Given the description of an element on the screen output the (x, y) to click on. 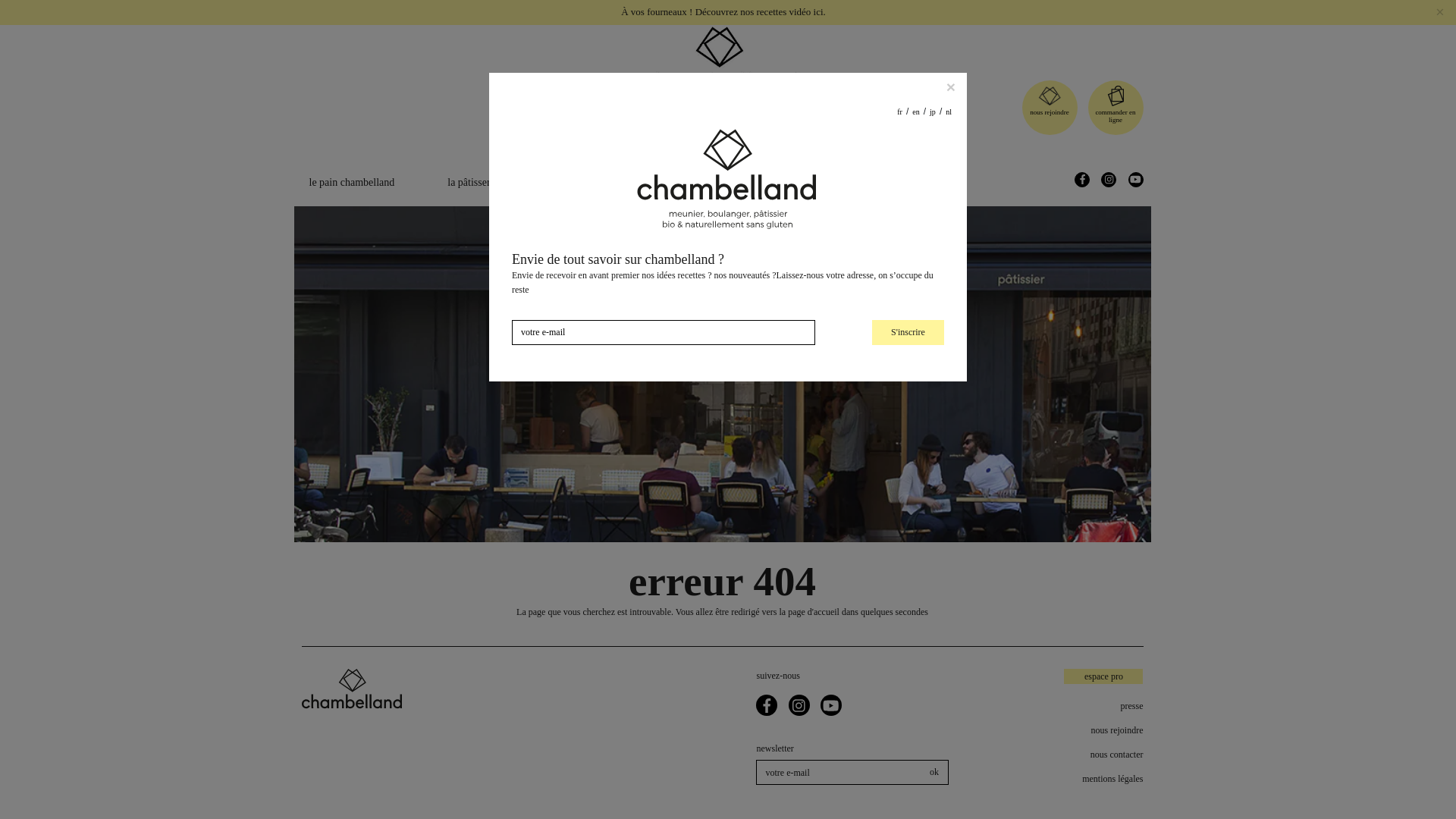
notre histoire (672, 182)
ok (934, 772)
les revendeurs (892, 182)
le pain chambelland (351, 182)
espace pro (1103, 676)
commander en ligne (1116, 115)
nous rejoindre (1072, 730)
presse (1072, 705)
ok (934, 772)
les boutiques (781, 182)
nous contacter (1072, 754)
S'inscrire (907, 310)
nous rejoindre (1049, 112)
